Given the description of an element on the screen output the (x, y) to click on. 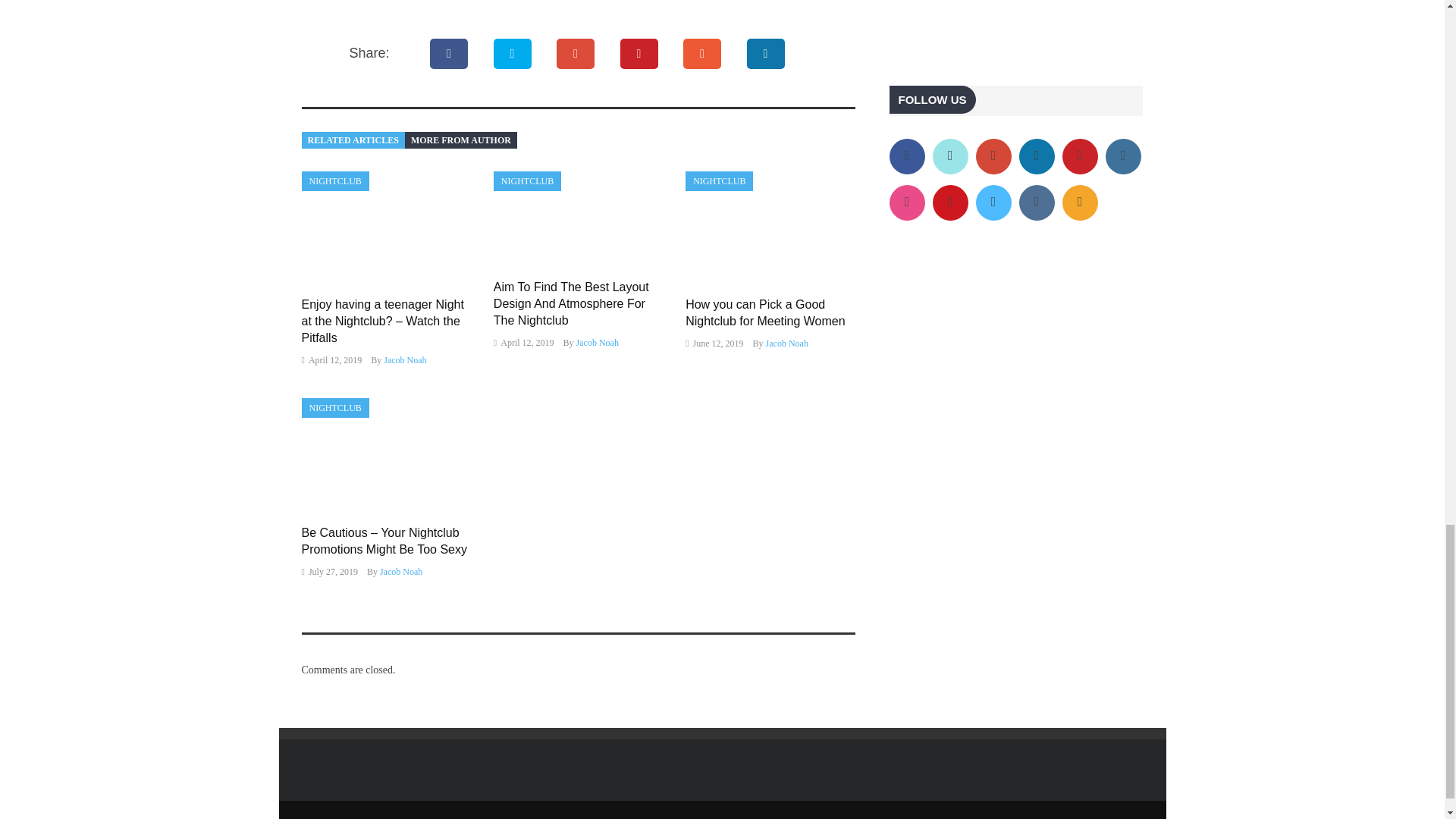
Facebook (448, 53)
Google Plus (575, 53)
Linkedin (765, 53)
Twitter (513, 53)
Pinterest (639, 53)
Stumbleupon (702, 53)
